Given the description of an element on the screen output the (x, y) to click on. 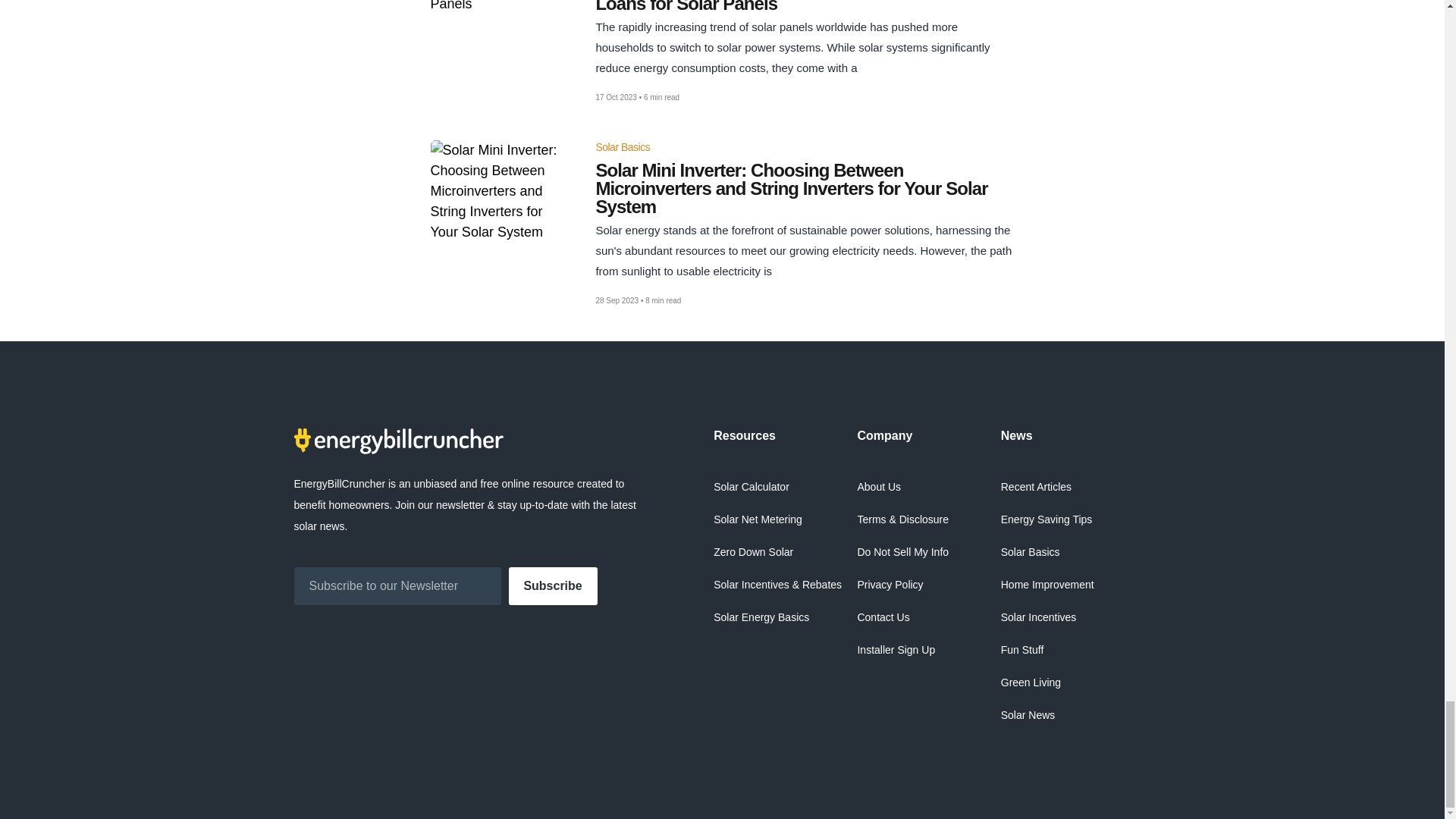
Subscribe (552, 586)
Solar Net Metering (757, 519)
Zero Down Solar (753, 551)
Solar Calculator (751, 486)
Solar Energy Basics (761, 616)
Solar Basics (622, 146)
Loans for Solar Panels (804, 6)
